Given the description of an element on the screen output the (x, y) to click on. 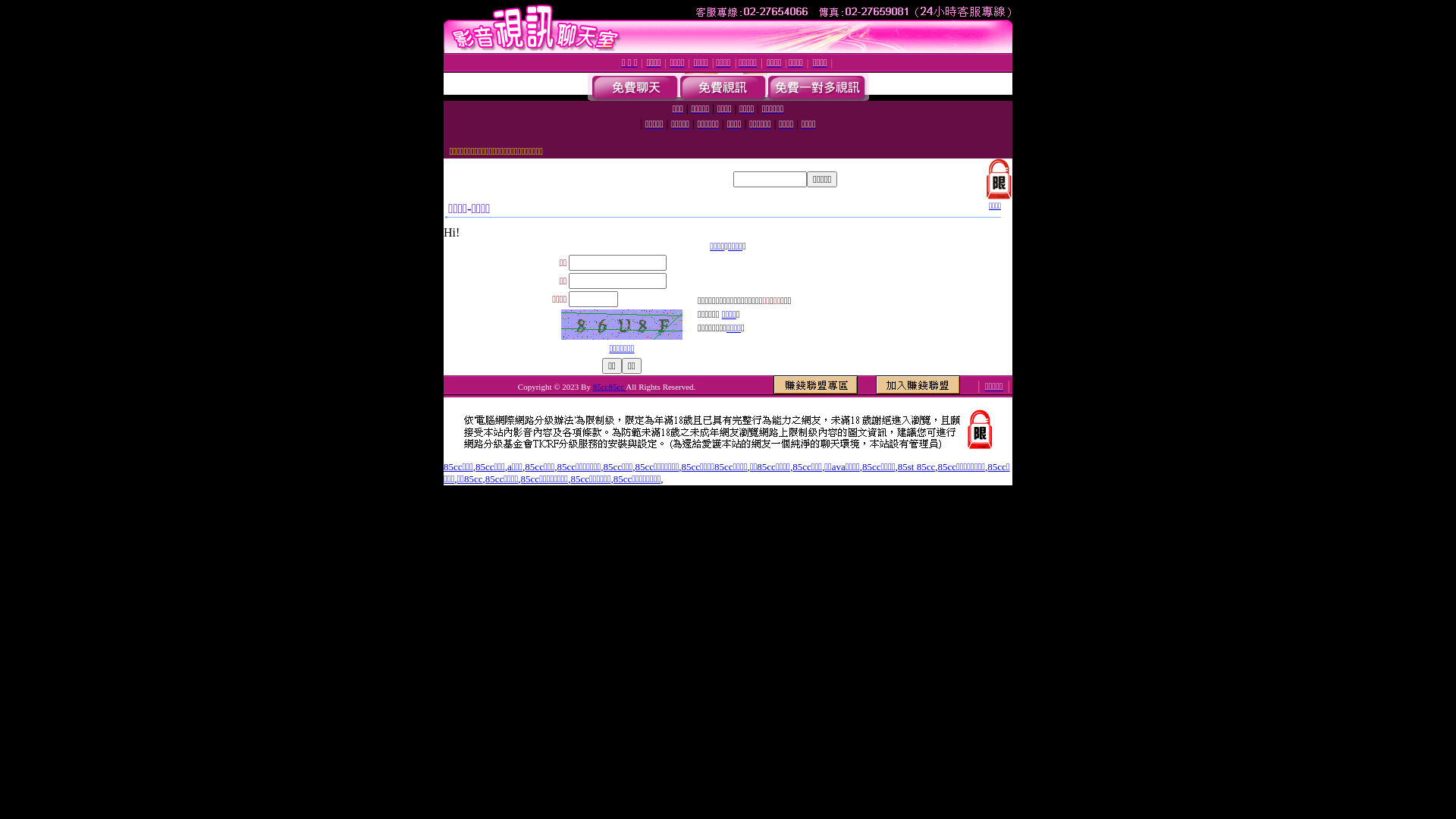
85cc85cc Element type: text (609, 386)
85st 85cc Element type: text (916, 466)
